Given the description of an element on the screen output the (x, y) to click on. 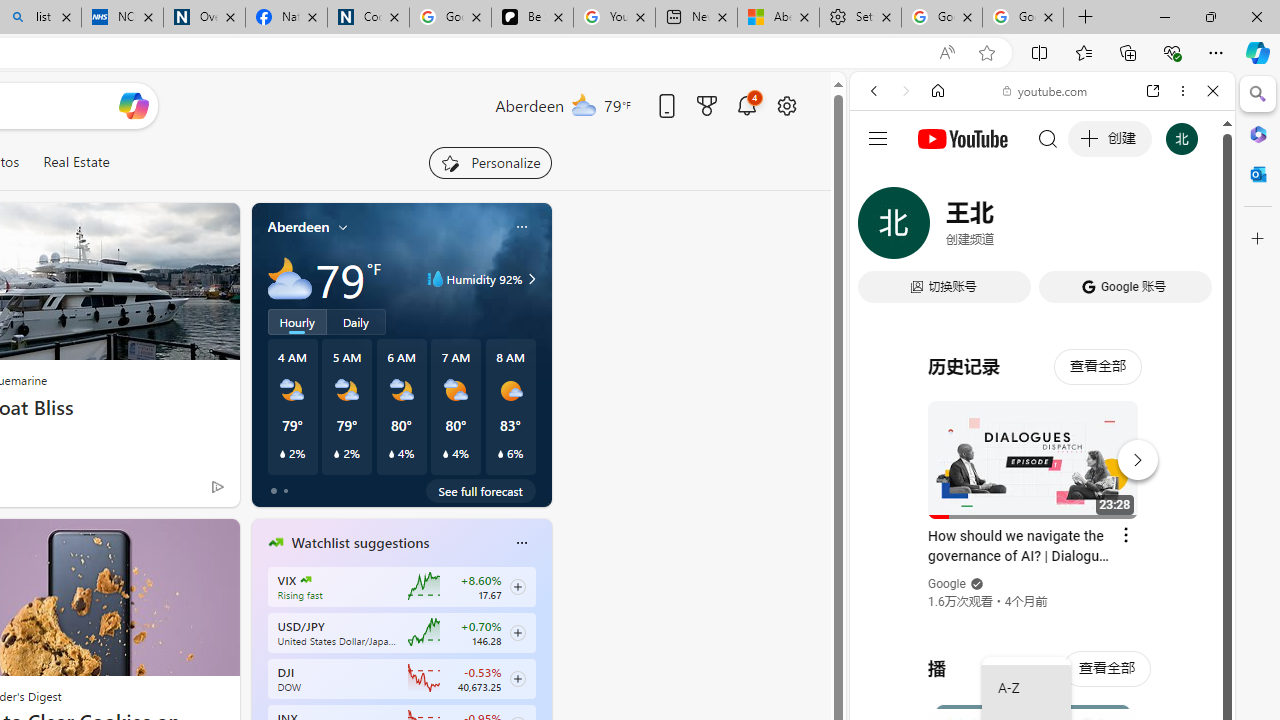
WEB   (882, 228)
Class: weather-arrow-glyph (531, 278)
My location (343, 227)
See full forecast (480, 490)
next (541, 670)
Class: weather-current-precipitation-glyph (500, 453)
Search videos from youtube.com (1005, 657)
